Given the description of an element on the screen output the (x, y) to click on. 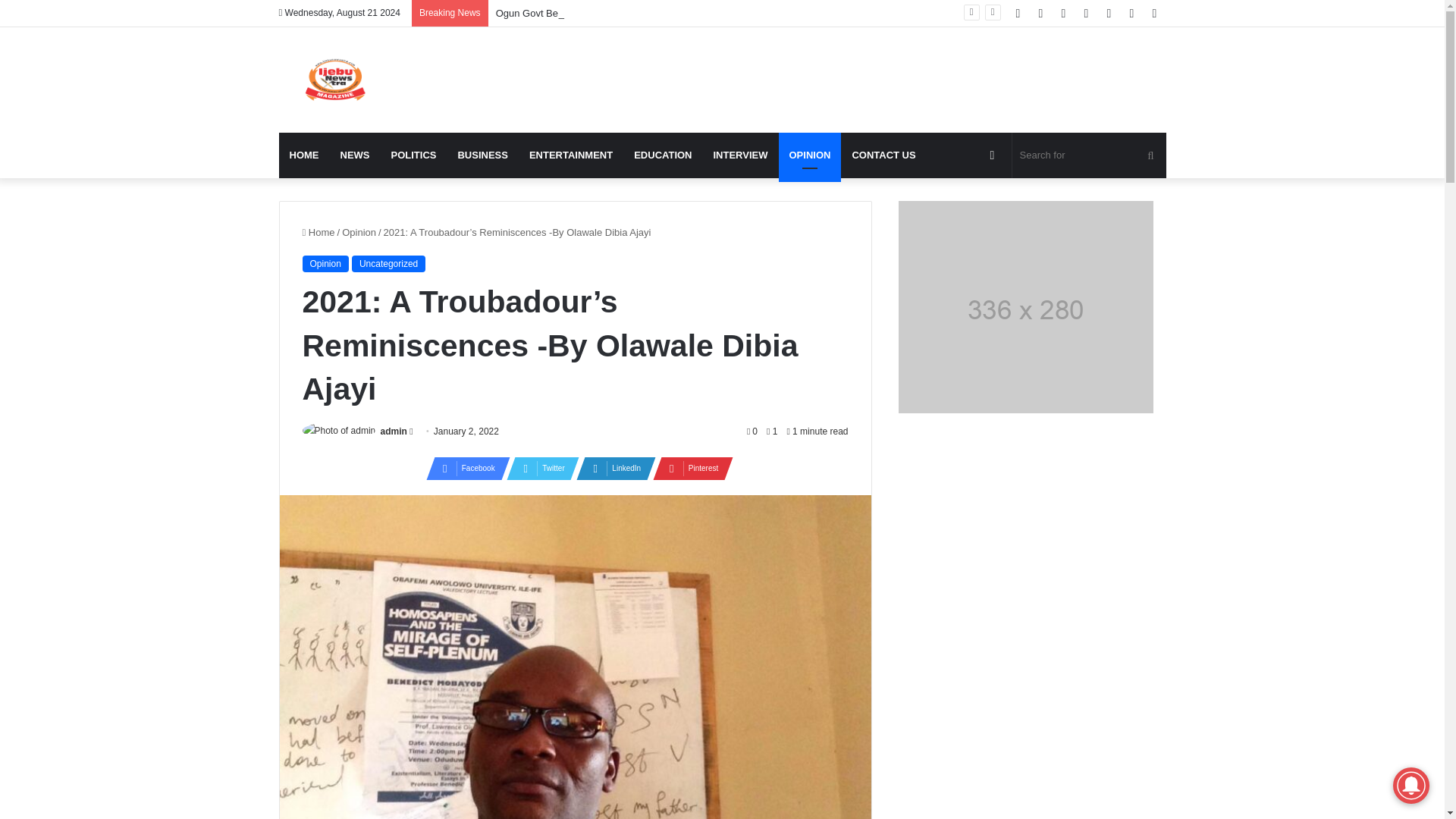
Uncategorized (388, 263)
POLITICS (413, 155)
admin (393, 430)
LinkedIn (611, 468)
Ijebu News Xtra (334, 79)
CONTACT US (883, 155)
Opinion (358, 232)
INTERVIEW (739, 155)
Twitter (538, 468)
NEWS (354, 155)
